Given the description of an element on the screen output the (x, y) to click on. 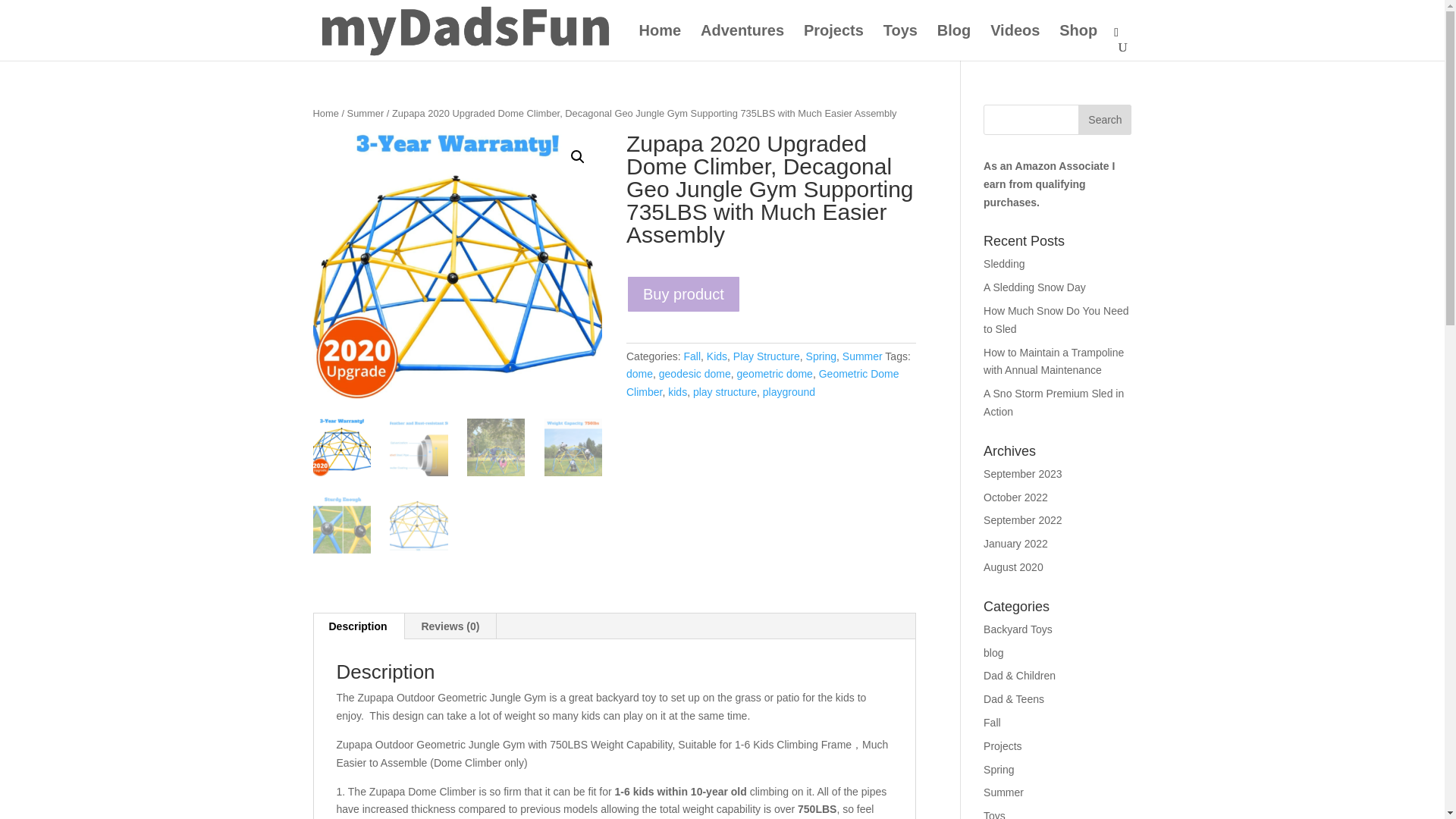
Geometric Dome Climber (762, 382)
Summer (365, 112)
dome (639, 373)
geodesic dome (694, 373)
Summer (862, 356)
kids (677, 391)
Play Structure (766, 356)
Projects (833, 42)
Home (325, 112)
playground (788, 391)
Adventures (742, 42)
Description (358, 626)
Shop (1078, 42)
Blog (954, 42)
